Given the description of an element on the screen output the (x, y) to click on. 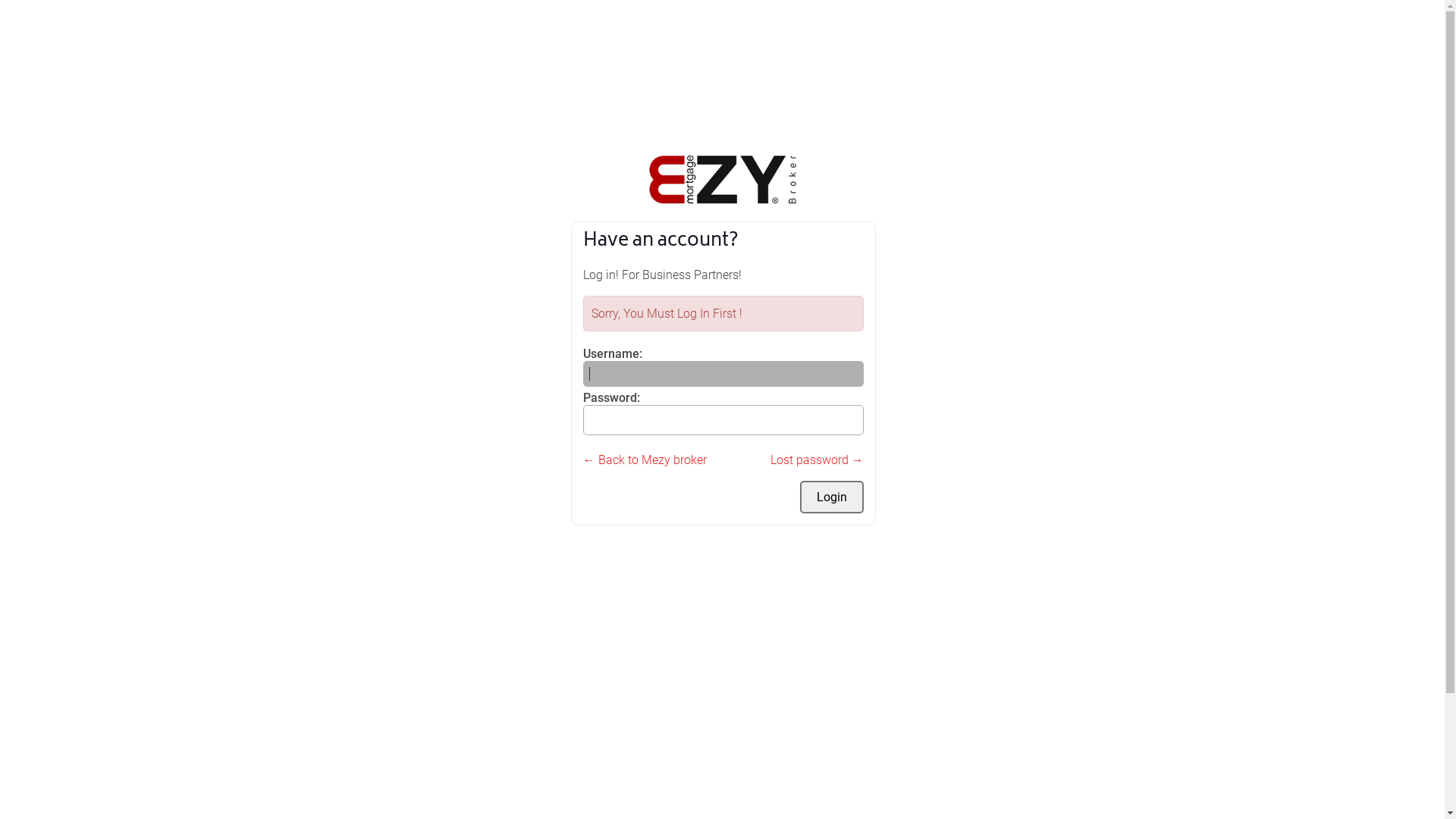
Login Element type: text (830, 496)
